Given the description of an element on the screen output the (x, y) to click on. 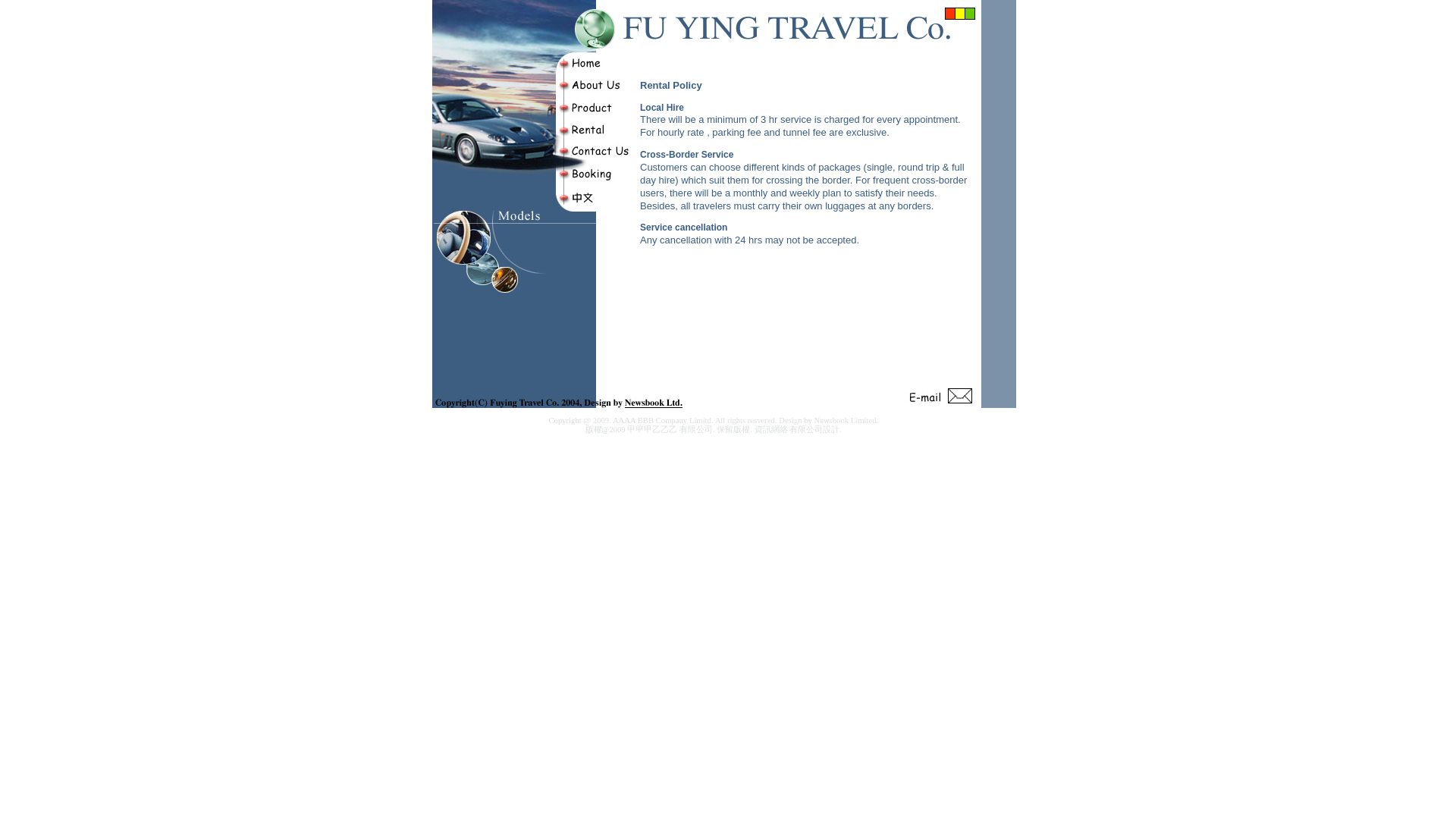
Newsbook (830, 420)
Limited. (863, 420)
2009 (616, 429)
AAAA BBB (632, 420)
Design (790, 420)
resvered (761, 420)
Limitd. (700, 420)
Company (671, 420)
